Given the description of an element on the screen output the (x, y) to click on. 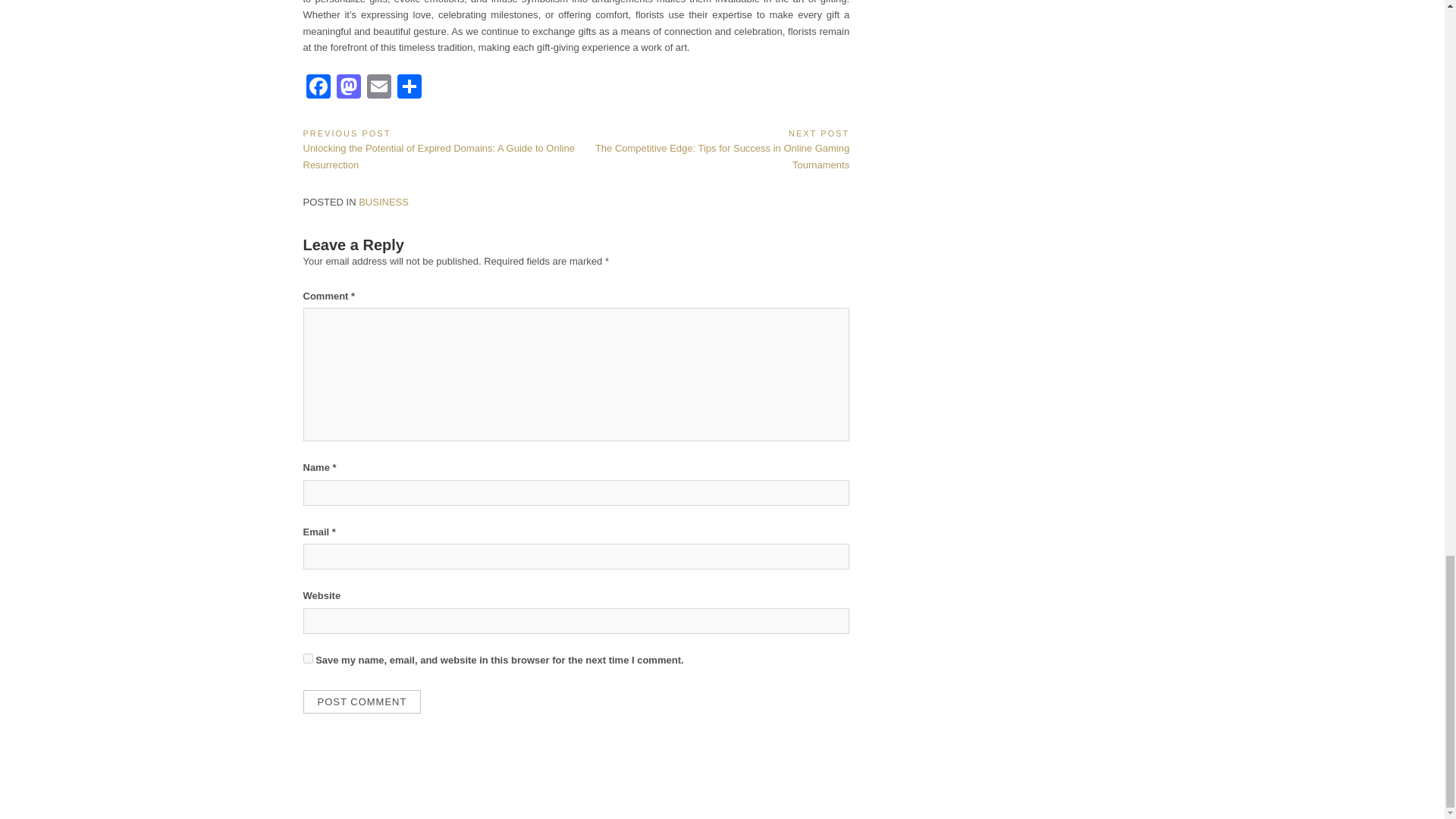
Post Comment (362, 701)
Mastodon (348, 88)
Facebook (317, 88)
Facebook (317, 88)
Mastodon (348, 88)
Email (379, 88)
Post Comment (362, 701)
BUSINESS (383, 202)
Email (379, 88)
